Given the description of an element on the screen output the (x, y) to click on. 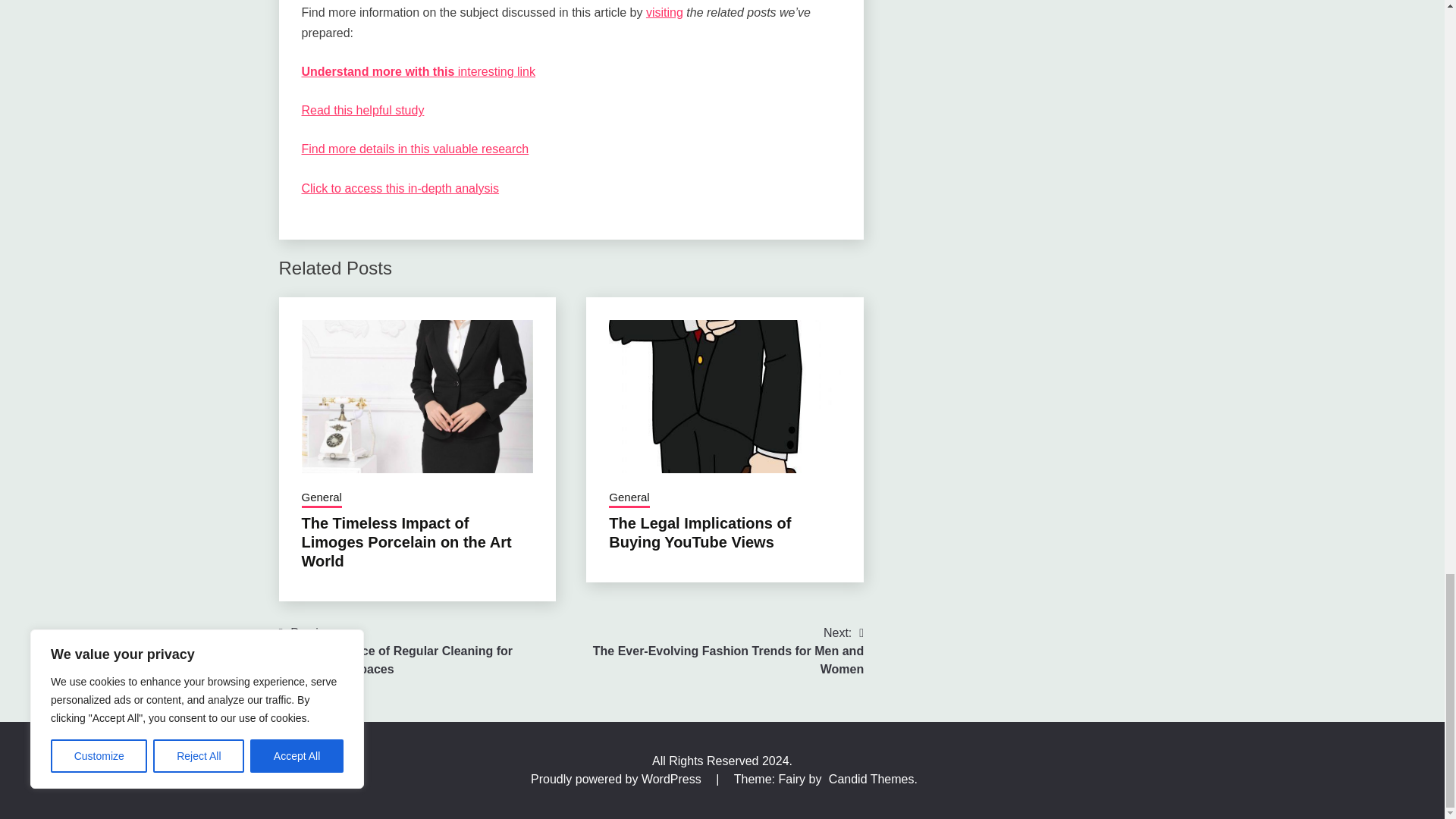
Find more details in this valuable research (415, 148)
Understand more with this interesting link (418, 71)
Click to access this in-depth analysis (400, 187)
General (321, 498)
visiting (664, 11)
Read this helpful study (363, 110)
